Given the description of an element on the screen output the (x, y) to click on. 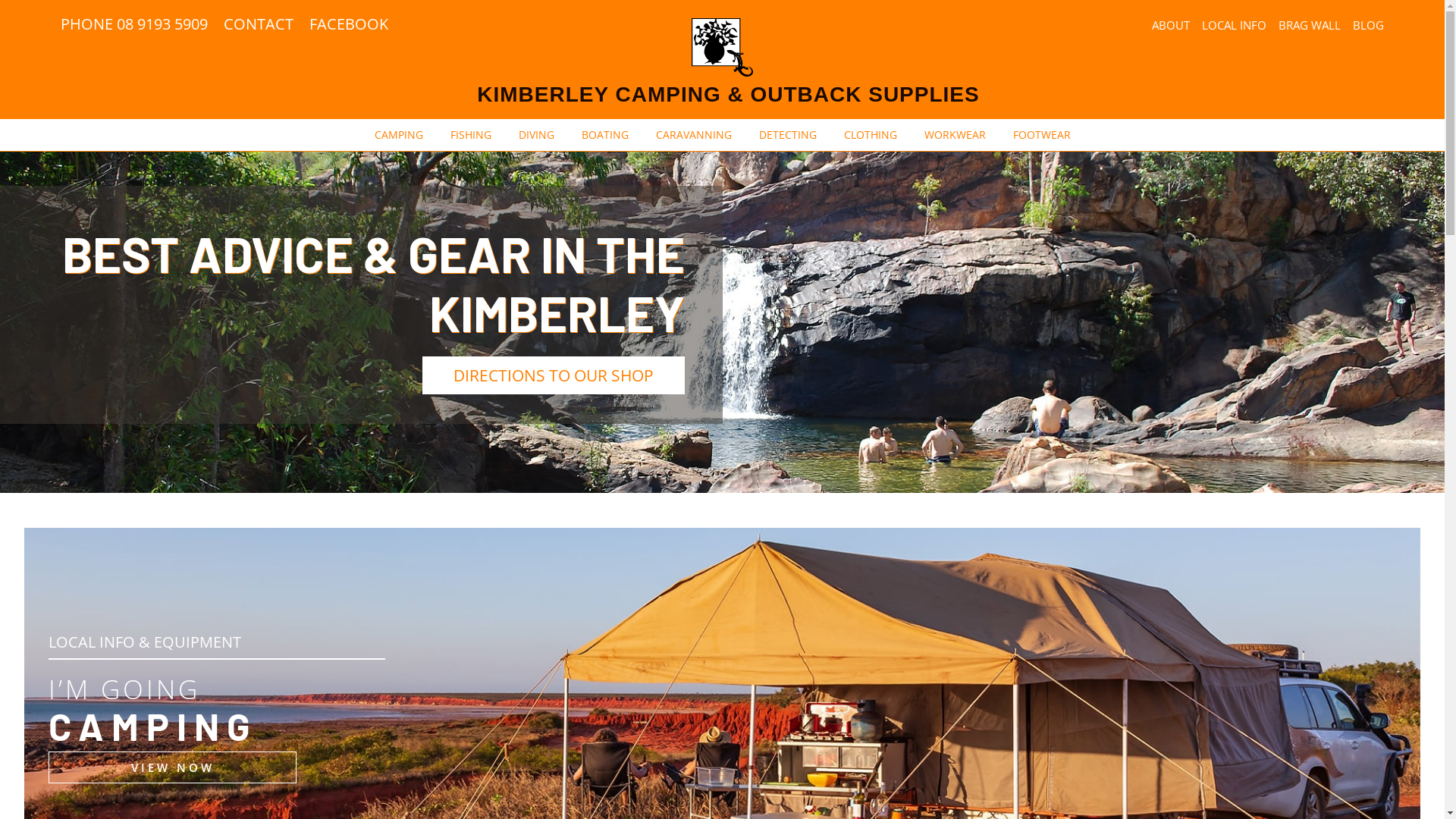
DIVING Element type: text (536, 134)
WORKWEAR Element type: text (954, 134)
Workwear Clothing Element type: text (441, 517)
VIEW NOW Element type: text (172, 767)
About Kimberley Camping Element type: text (811, 550)
CLOTHING Element type: text (869, 134)
08 9193 5909 Element type: text (1158, 583)
DIRECTIONS TO OUR SHOP Element type: text (552, 375)
FISHING Element type: text (470, 134)
CAMPING Element type: text (398, 134)
Local Information Element type: text (792, 483)
Get Directions Element type: text (1161, 556)
Make Element type: text (831, 800)
KIMBERLEY CAMPING & OUTBACK SUPPLIES Element type: text (727, 94)
Boating Element type: text (61, 584)
ABOUT Element type: text (1170, 24)
Around the Campfire Element type: text (800, 584)
Camping Element type: text (64, 483)
Terms & Conditions Element type: text (854, 782)
Metal Detecting Element type: text (81, 618)
info@kimberleycamping.com.au Element type: text (1207, 611)
PHONE 08 9193 5909 Element type: text (133, 23)
FOOTWEAR Element type: text (1041, 134)
BRAG WALL Element type: text (1309, 24)
BOATING Element type: text (604, 134)
Website design Broome Element type: text (645, 800)
Privacy Element type: text (785, 782)
Get in Contact Element type: text (785, 517)
Footwear & Boots Element type: text (440, 550)
Caravans & Campers Element type: text (446, 584)
DETECTING Element type: text (787, 134)
LOCAL INFO Element type: text (1233, 24)
BLOG Element type: text (1367, 24)
FACEBOOK Element type: text (348, 23)
Fishing Element type: text (59, 550)
CONTACT Element type: text (258, 23)
Diving Element type: text (57, 517)
CARAVANNING Element type: text (693, 134)
Outdoor Clothing Element type: text (438, 483)
